Given the description of an element on the screen output the (x, y) to click on. 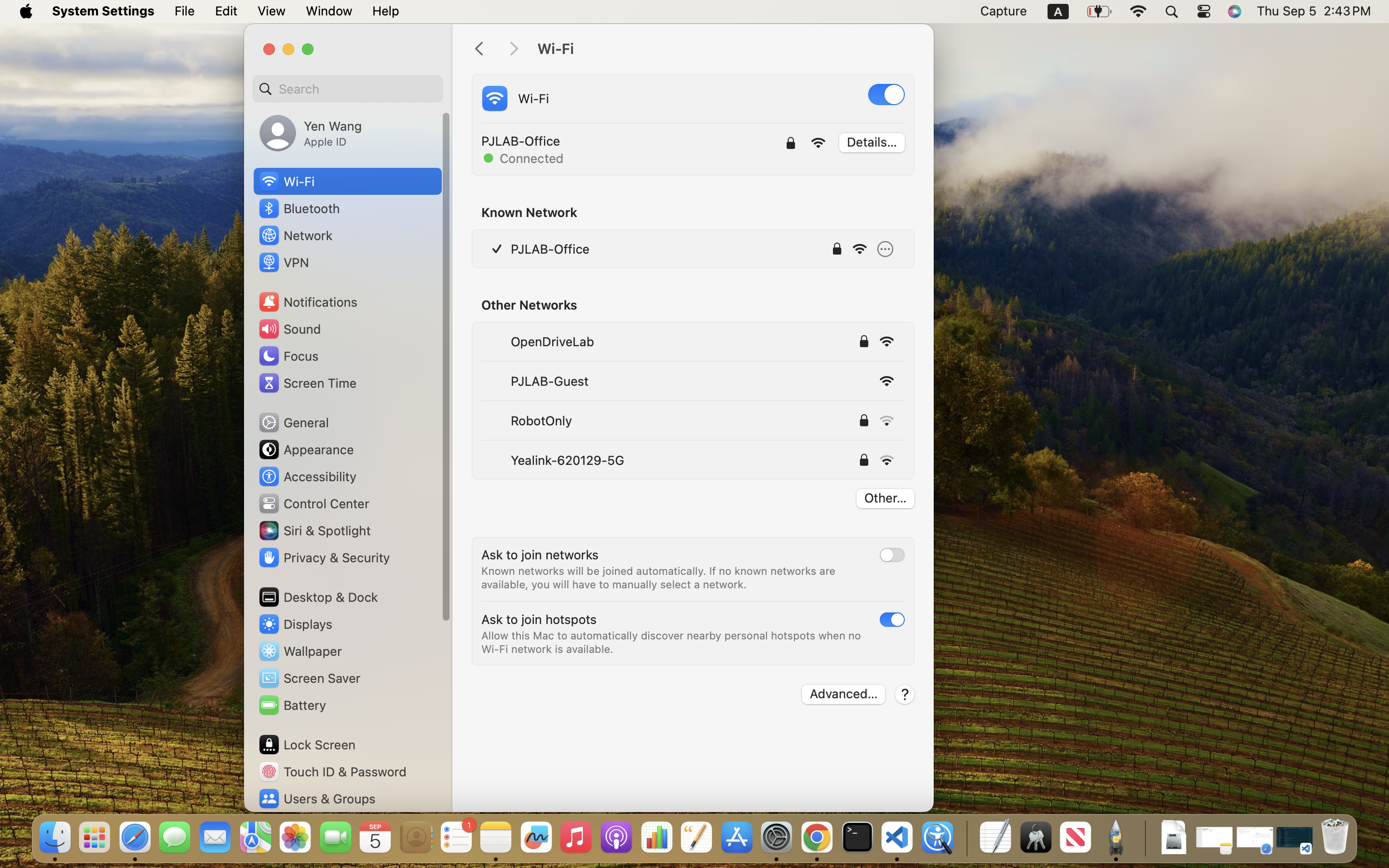
Ask to join networks Element type: AXStaticText (540, 554)
Connected Element type: AXStaticText (523, 157)
Users & Groups Element type: AXStaticText (316, 798)
Wi-Fi Element type: AXStaticText (513, 97)
Ask to join hotspots Element type: AXStaticText (539, 618)
